Given the description of an element on the screen output the (x, y) to click on. 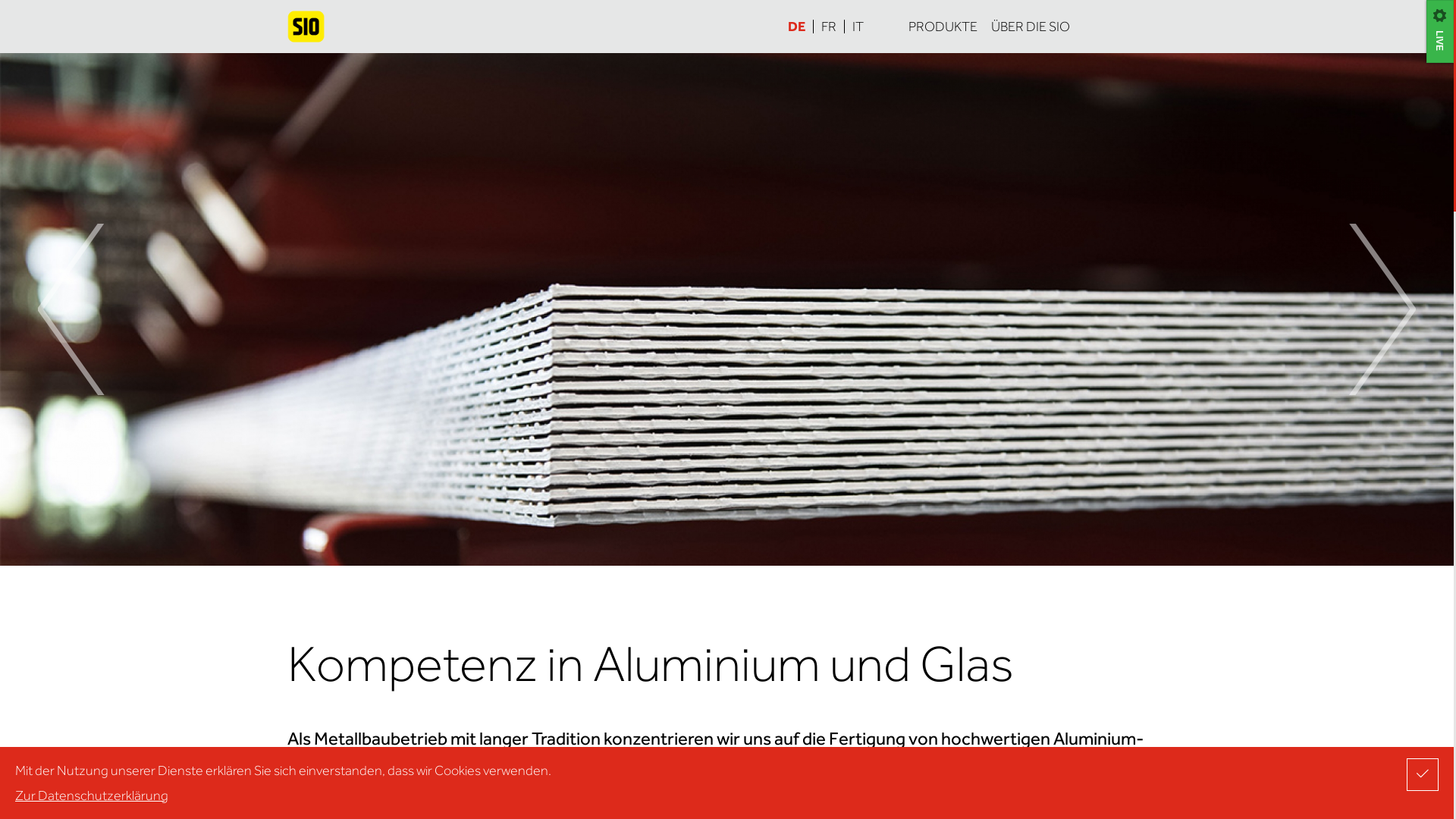
IT Element type: text (853, 26)
DE Element type: text (799, 26)
FR Element type: text (828, 26)
PRODUKTE Element type: text (941, 26)
